Given the description of an element on the screen output the (x, y) to click on. 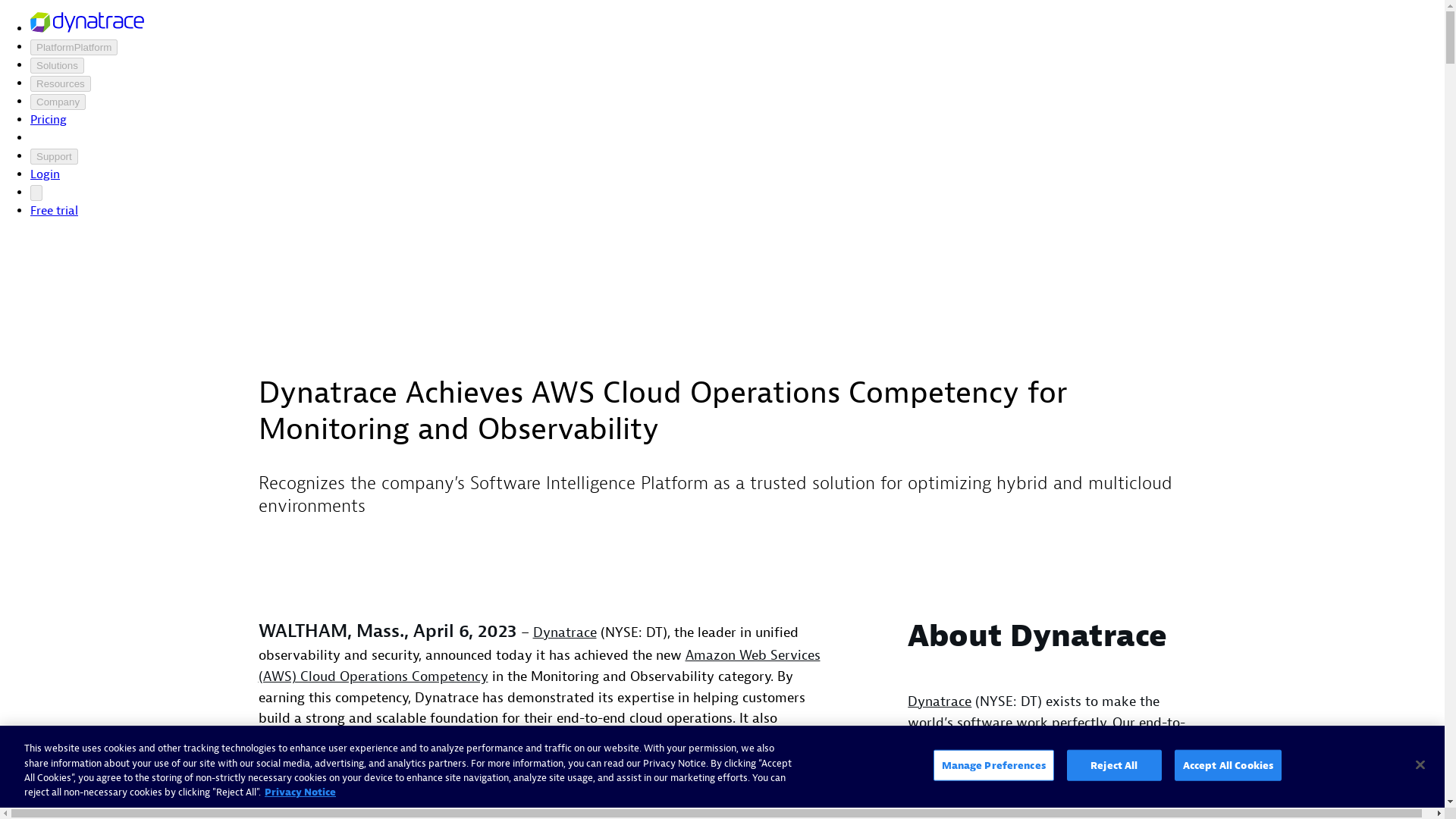
Reject All (1114, 778)
Privacy Notice (300, 808)
AWS Competency designations (587, 803)
Manage Preferences (992, 779)
Dynatrace (939, 701)
AWS Government Competency (529, 806)
Accept All Cookies (1227, 776)
Dynatrace (563, 632)
